Given the description of an element on the screen output the (x, y) to click on. 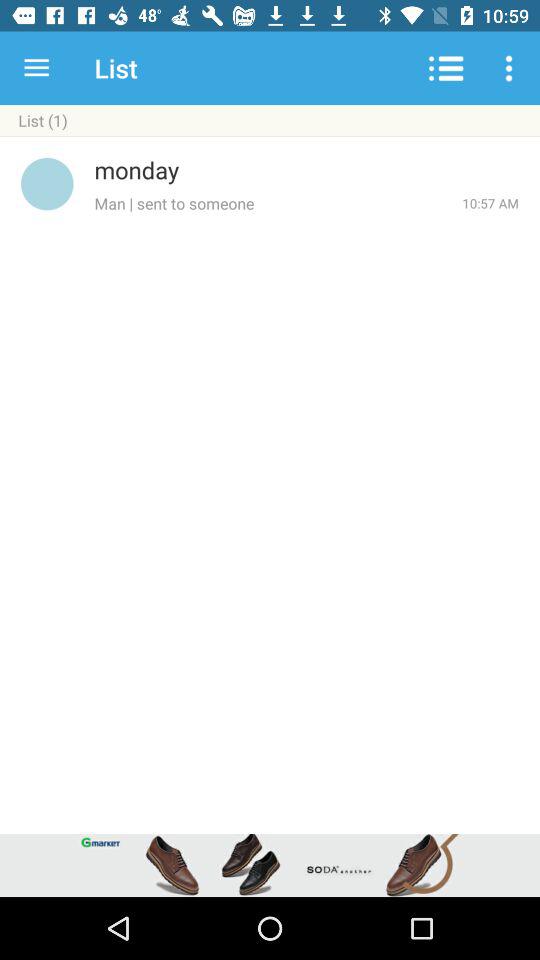
click the item below the list (1) item (270, 136)
